Given the description of an element on the screen output the (x, y) to click on. 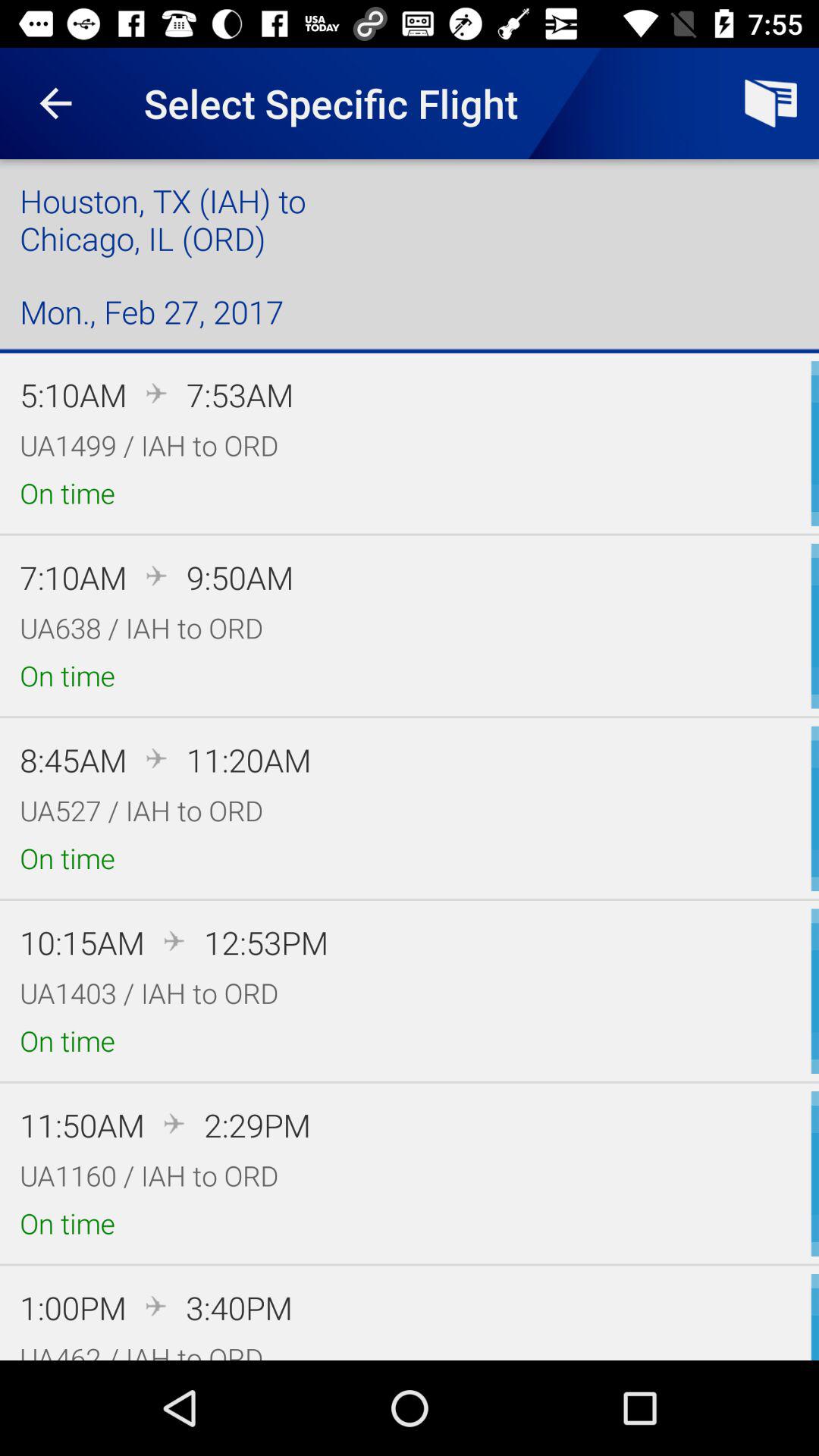
press icon above the on time item (141, 627)
